Given the description of an element on the screen output the (x, y) to click on. 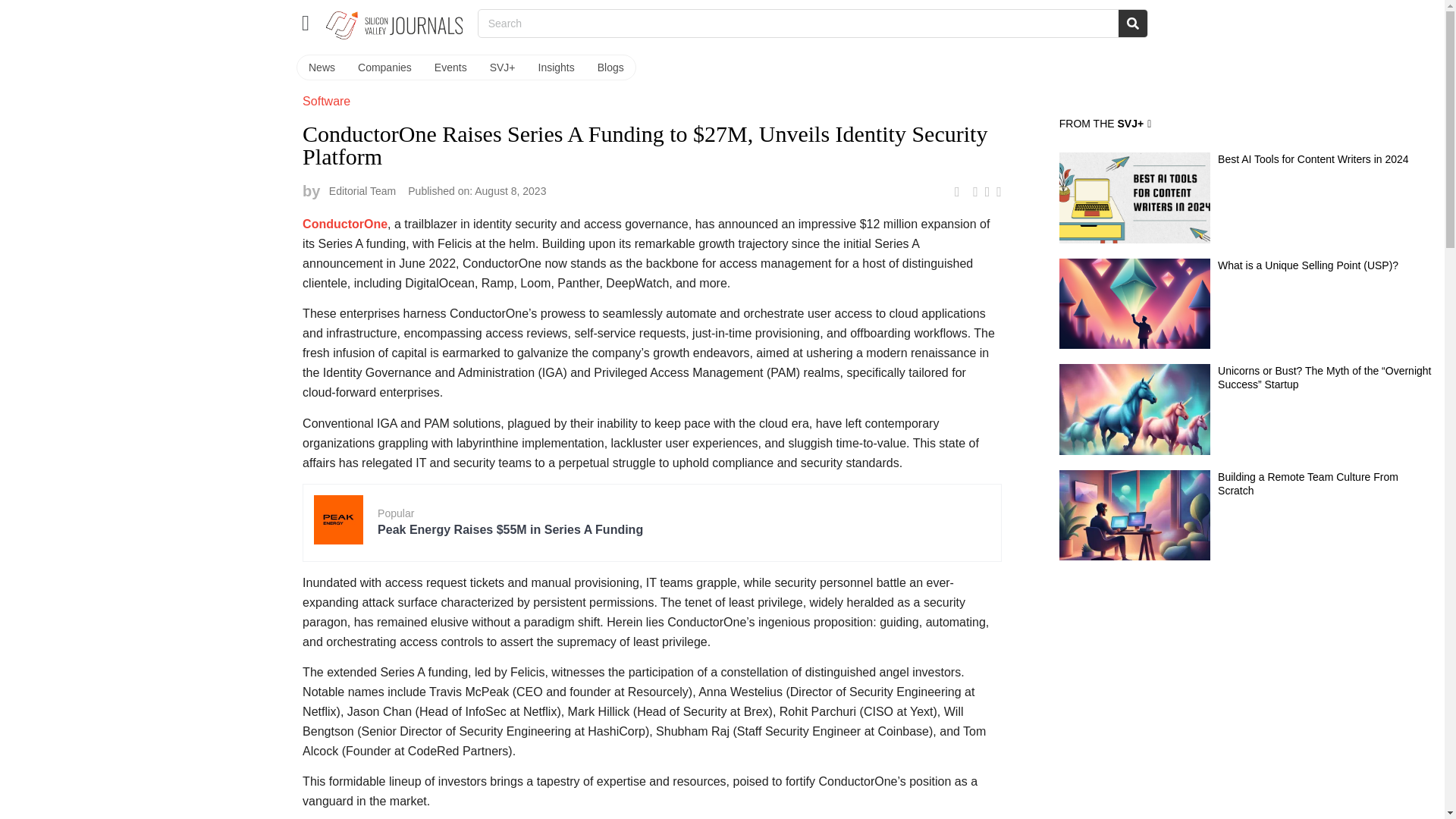
Search (1132, 22)
Events (451, 67)
Insights (556, 67)
Companies (384, 67)
Search (798, 22)
Blogs (610, 67)
News (321, 67)
